Given the description of an element on the screen output the (x, y) to click on. 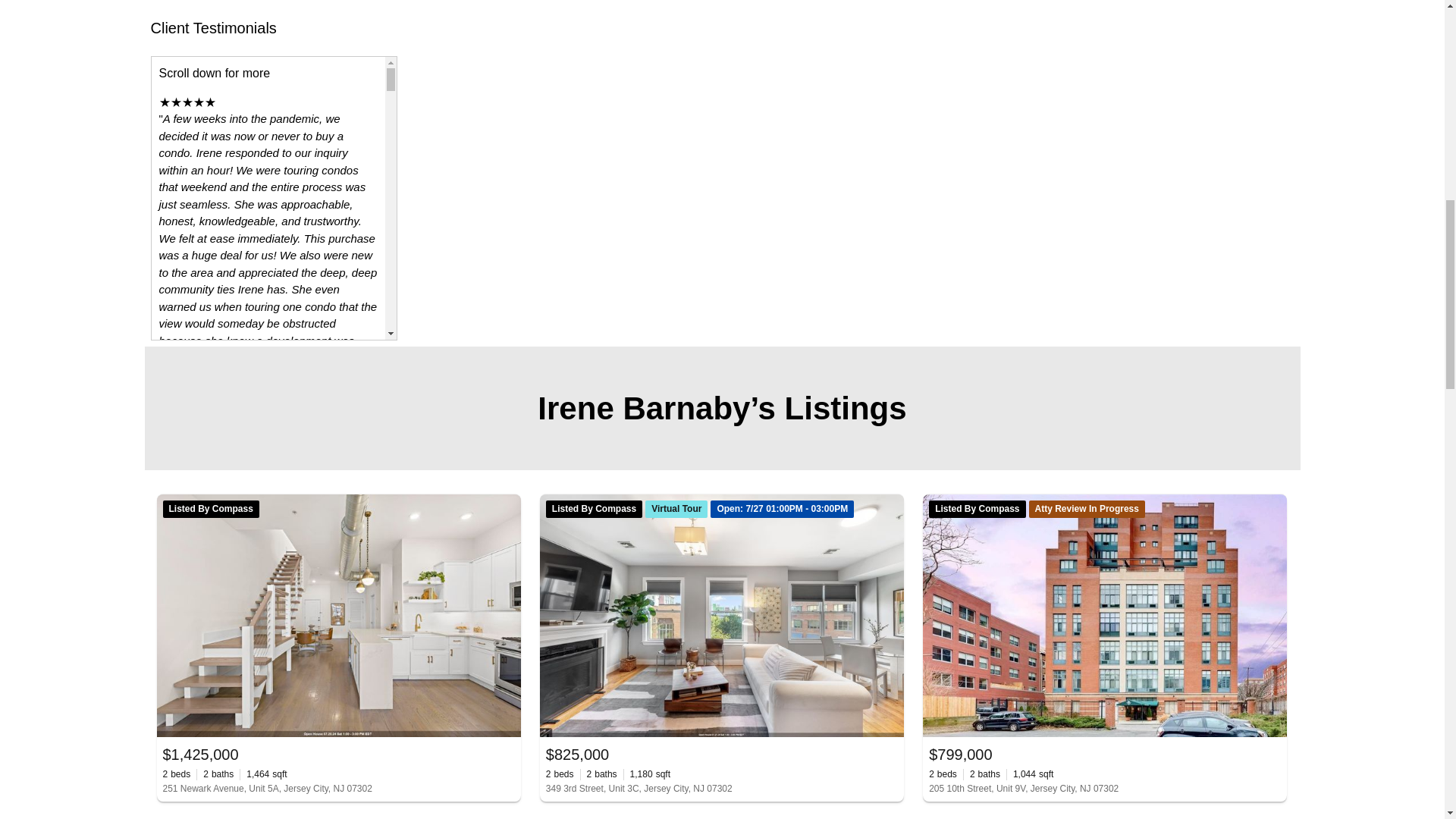
349 3rd Street, Unit 3C, Jersey City, NJ 07302 (722, 788)
251 Newark Avenue, Unit 5A, Jersey City, NJ 07302 (337, 788)
205 10th Street, Unit 9V, Jersey City, NJ 07302 (1104, 788)
